Given the description of an element on the screen output the (x, y) to click on. 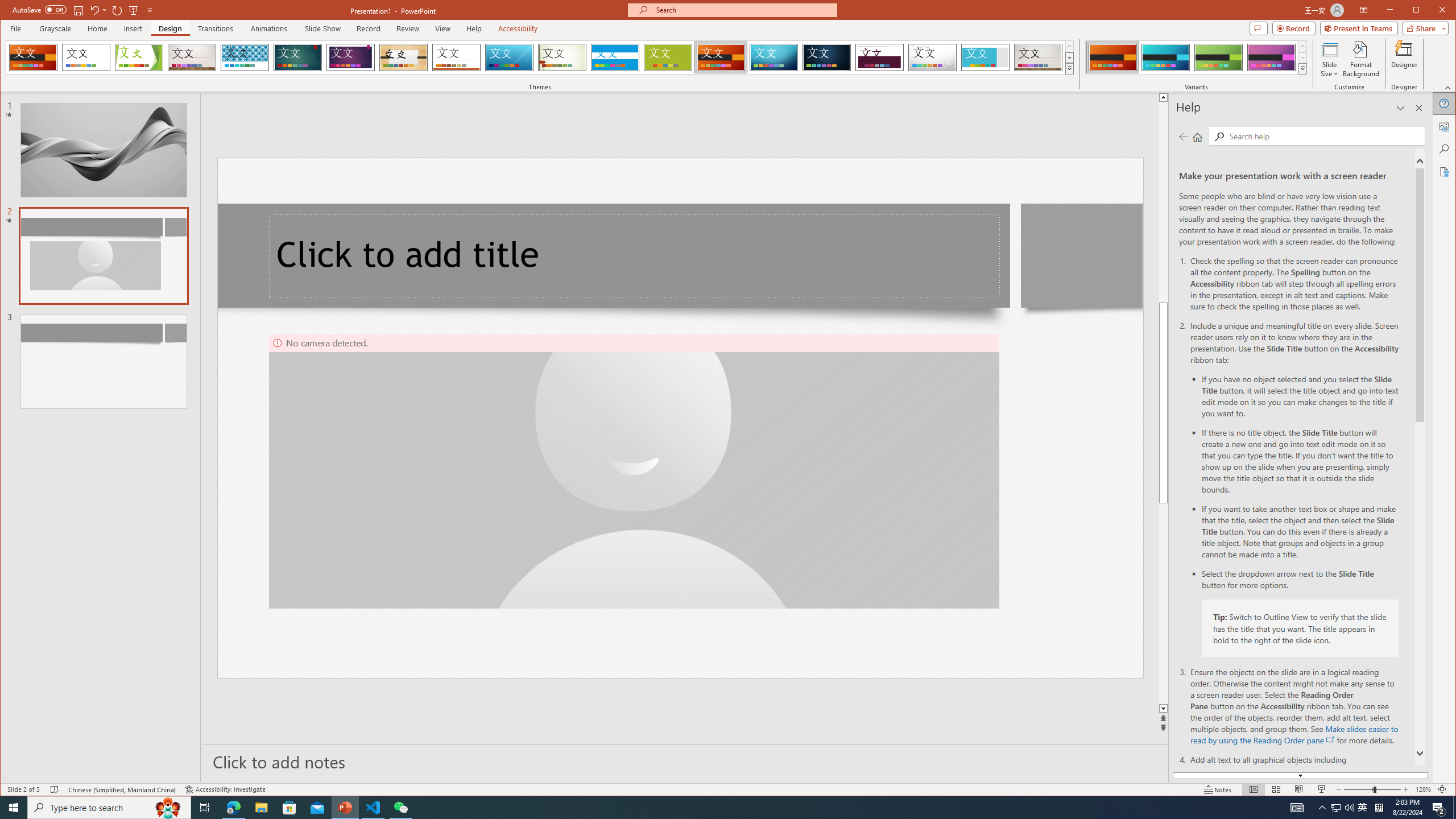
Slice (509, 57)
Format Background (1360, 59)
Ion (297, 57)
Grayscale (55, 28)
